Given the description of an element on the screen output the (x, y) to click on. 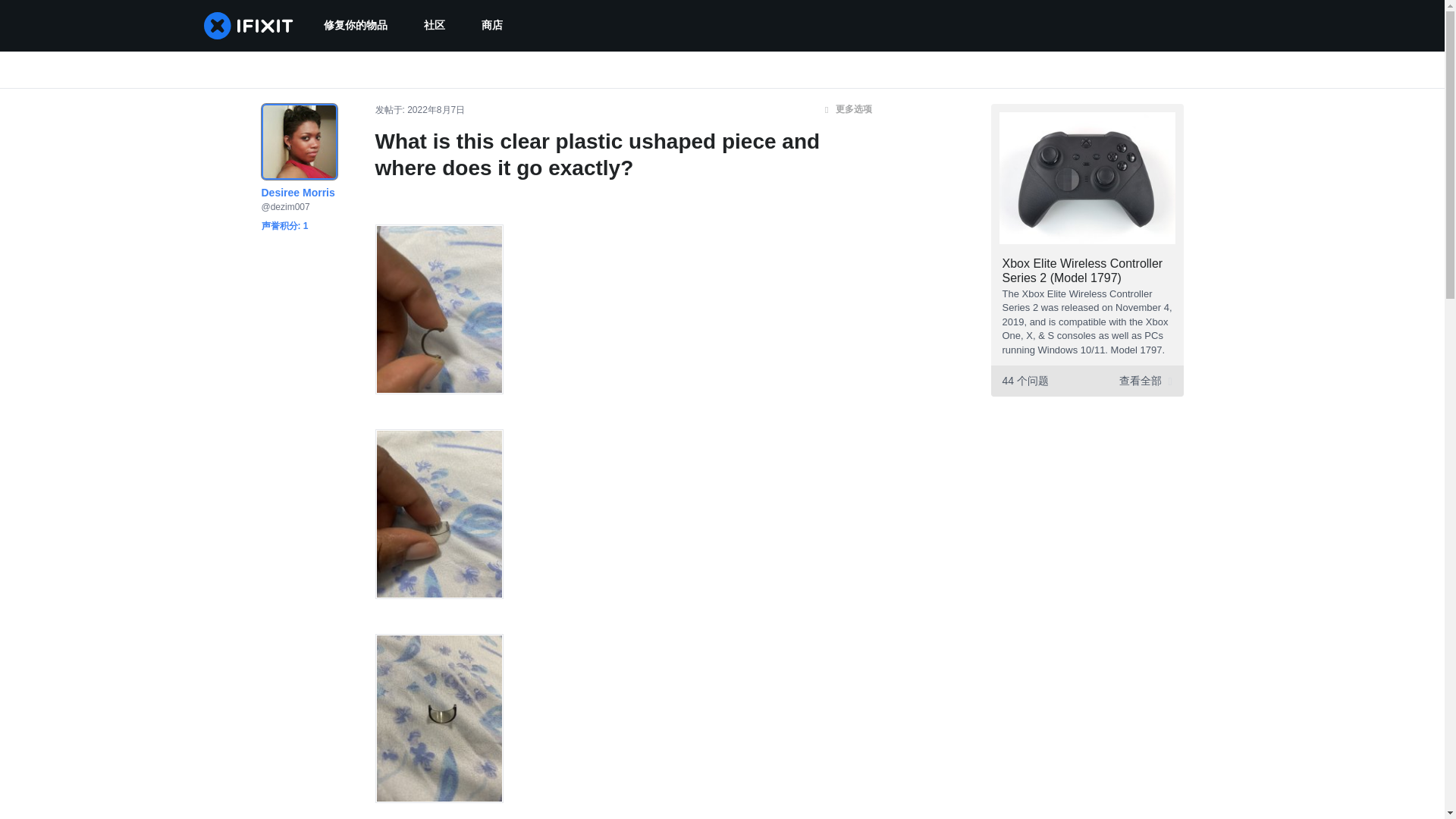
Sun, 07 Aug 2022 11:35:12 -0700 (435, 109)
